Given the description of an element on the screen output the (x, y) to click on. 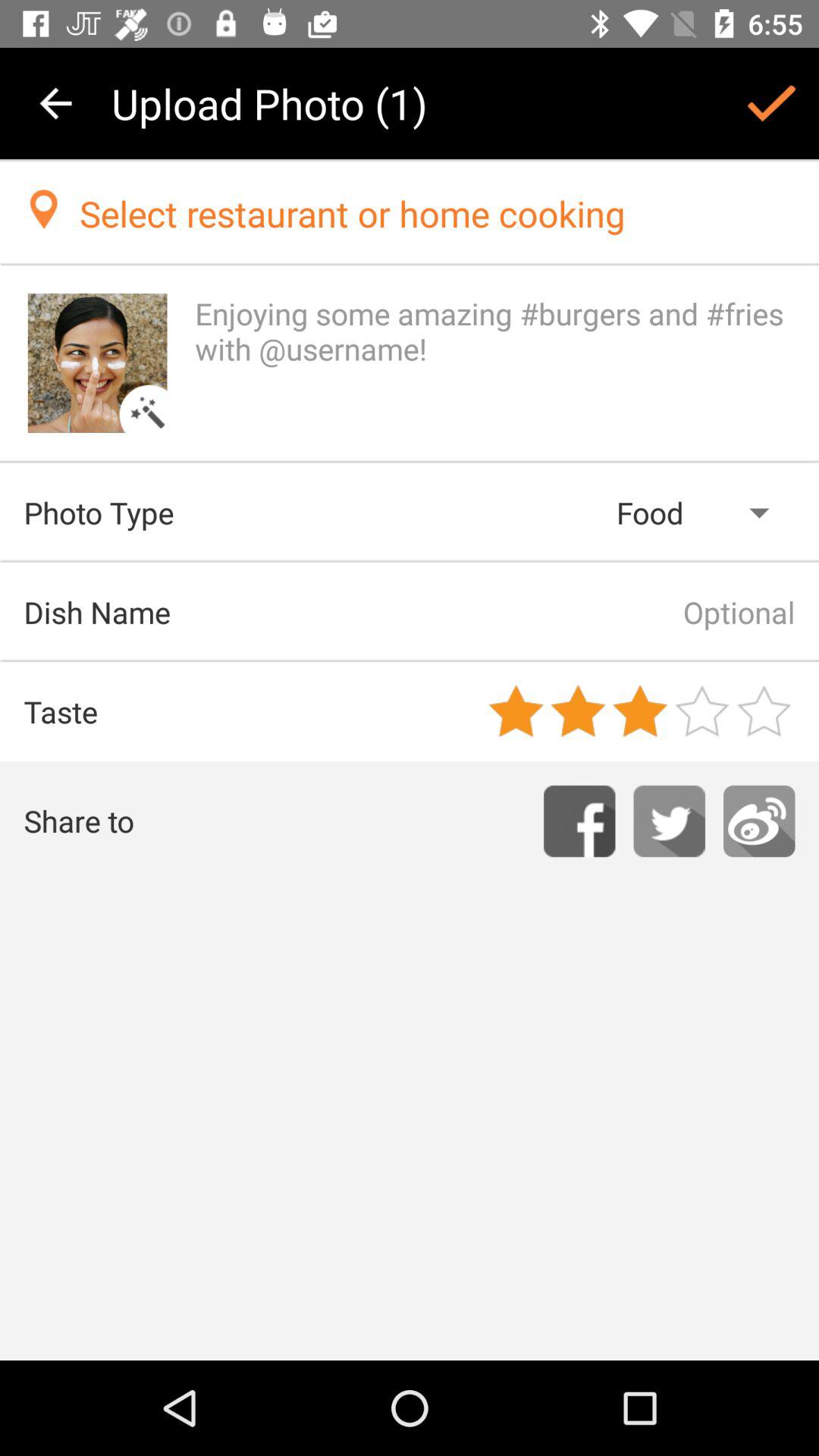
allows an image to be uploaded (97, 362)
